Given the description of an element on the screen output the (x, y) to click on. 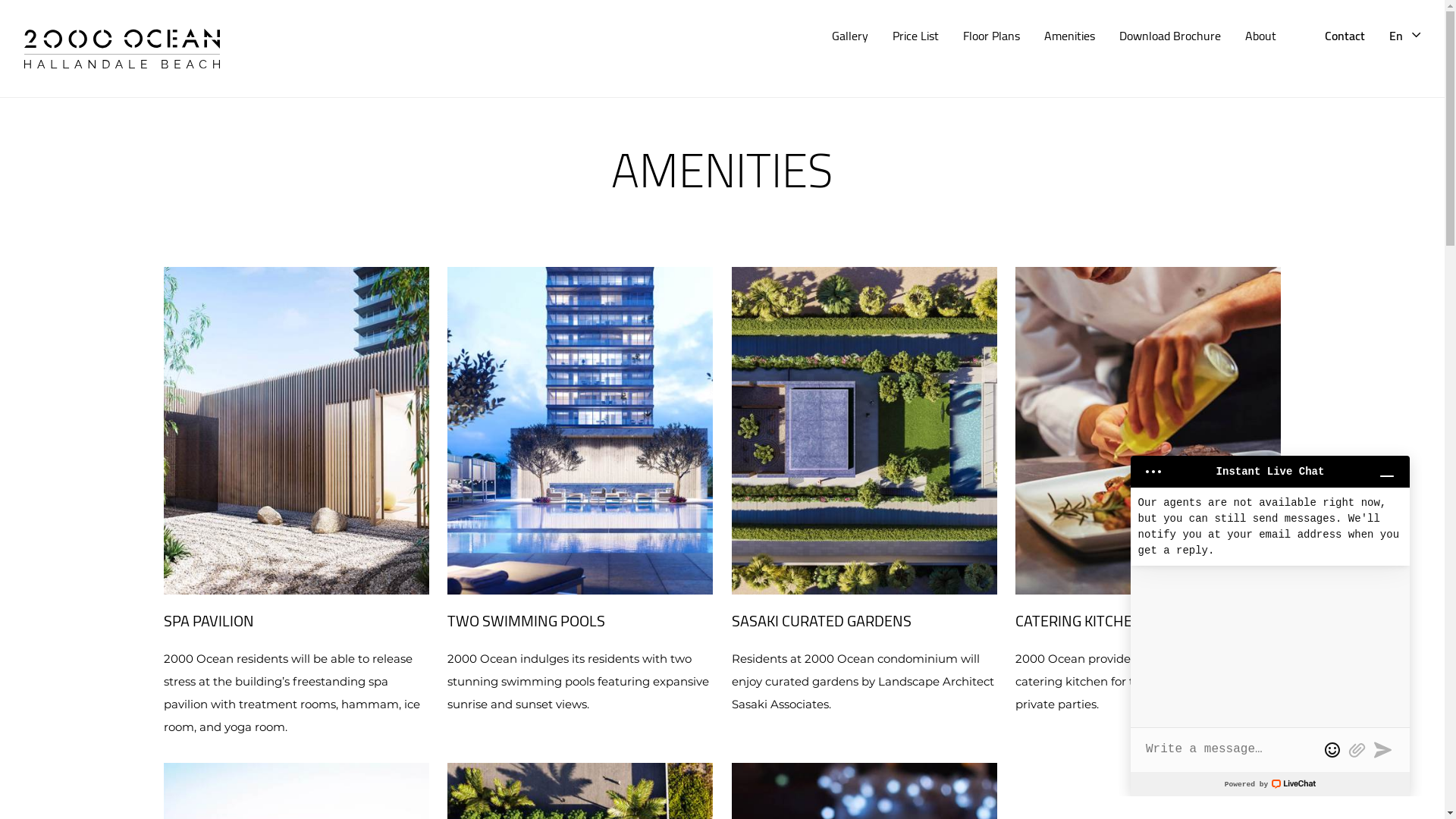
Two Swimming Pools Element type: hover (579, 430)
Spa Pavilion Element type: hover (296, 430)
Download Brochure Element type: text (1169, 35)
Gallery Element type: text (849, 35)
Contact Element type: text (1344, 35)
Amenities Element type: text (1069, 35)
En Element type: text (1404, 35)
Catering kitchen Element type: hover (1147, 430)
About Element type: text (1260, 35)
Sasaki Curated Gardens Element type: hover (863, 430)
Floor Plans Element type: text (991, 35)
Price List Element type: text (915, 35)
LiveChat chat widget Element type: hover (1269, 619)
